Given the description of an element on the screen output the (x, y) to click on. 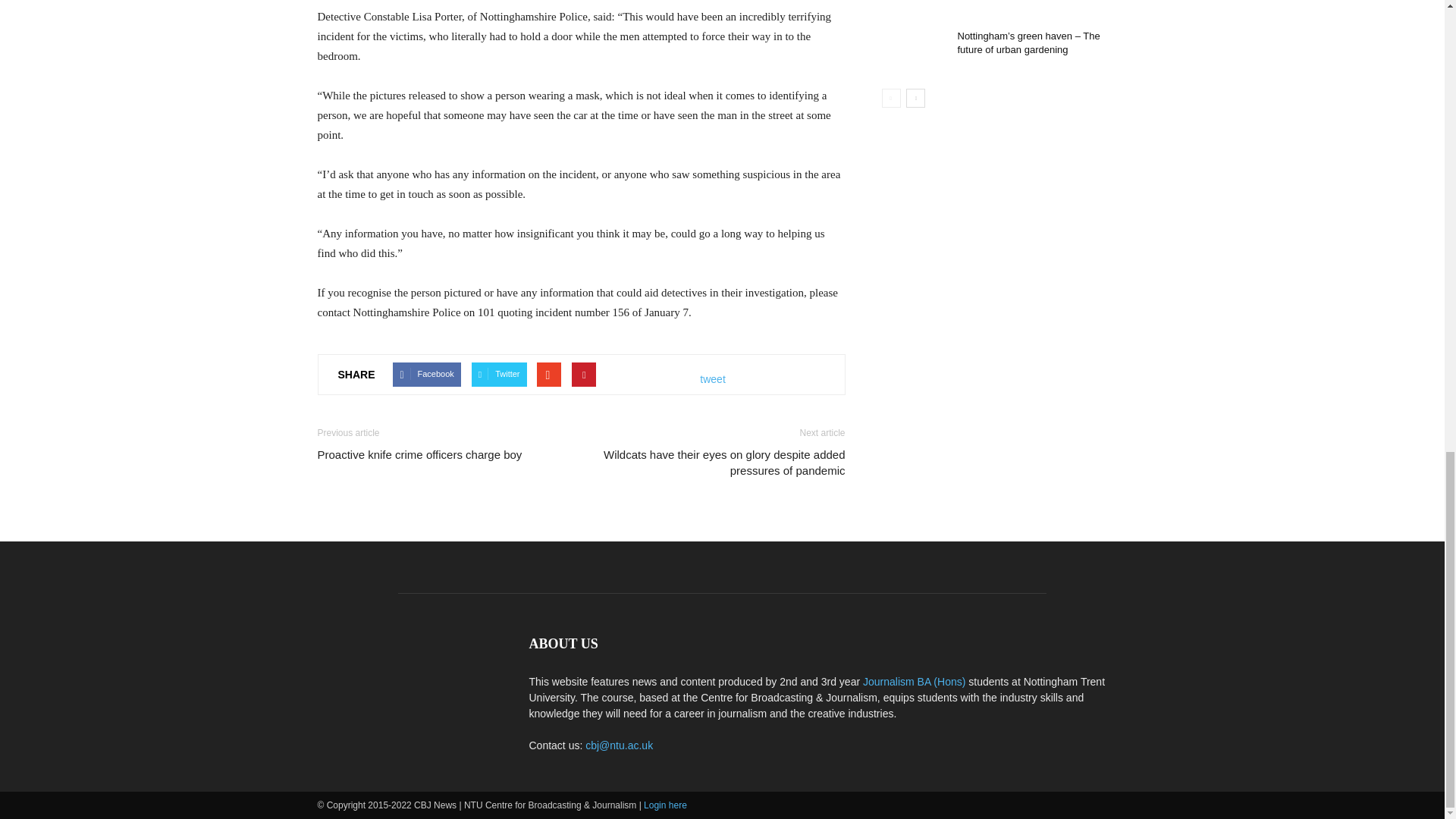
tweet (712, 379)
Facebook (426, 374)
Twitter (499, 374)
Proactive knife crime officers charge boy (419, 454)
